Given the description of an element on the screen output the (x, y) to click on. 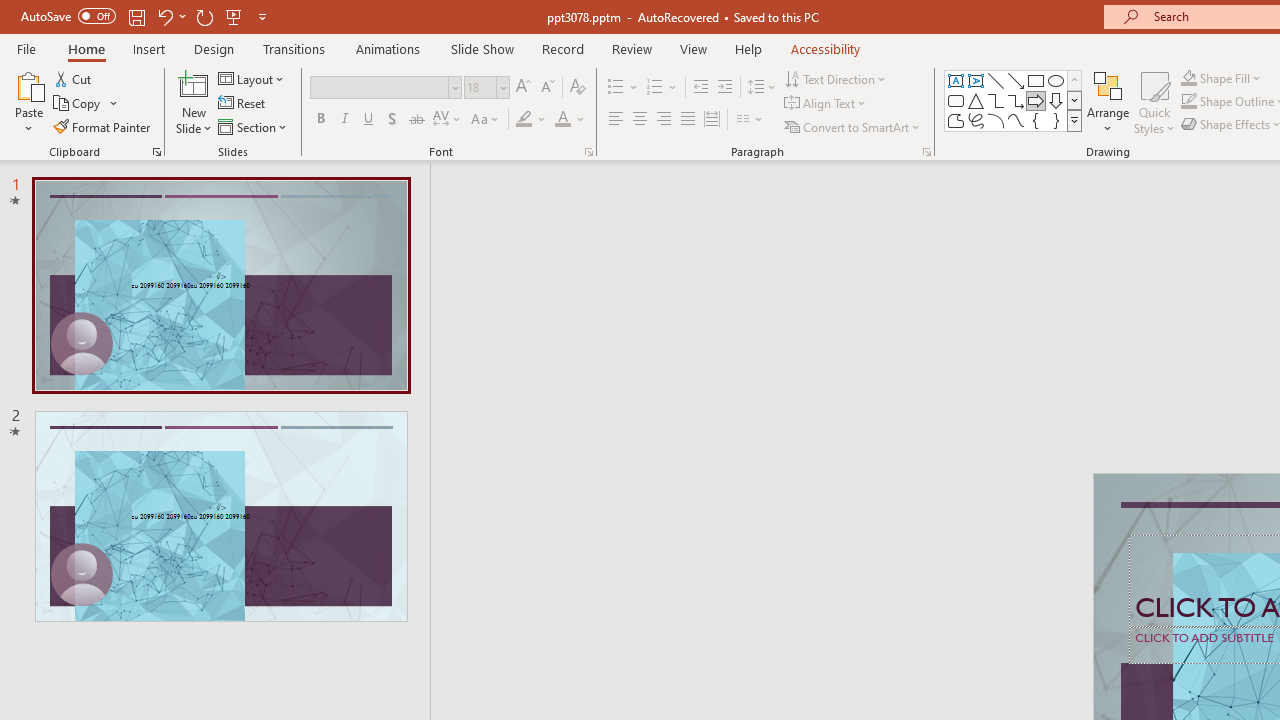
Shape Outline Green, Accent 1 (1188, 101)
